Given the description of an element on the screen output the (x, y) to click on. 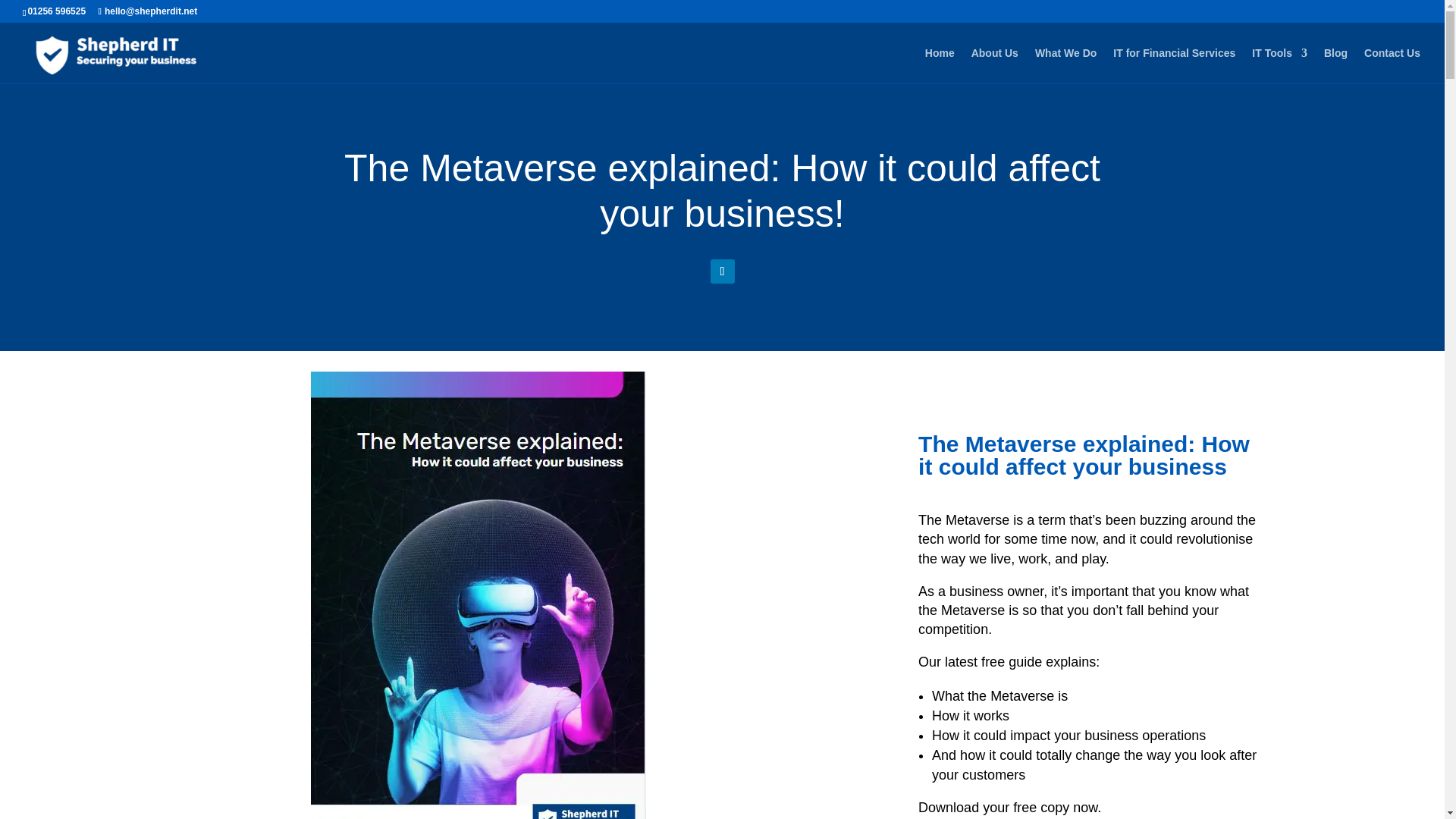
IT Tools (1279, 65)
IT for Financial Services (1173, 65)
Follow on LinkedIn (721, 271)
01256 596525 (56, 10)
What We Do (1065, 65)
About Us (994, 65)
Contact Us (1392, 65)
